Given the description of an element on the screen output the (x, y) to click on. 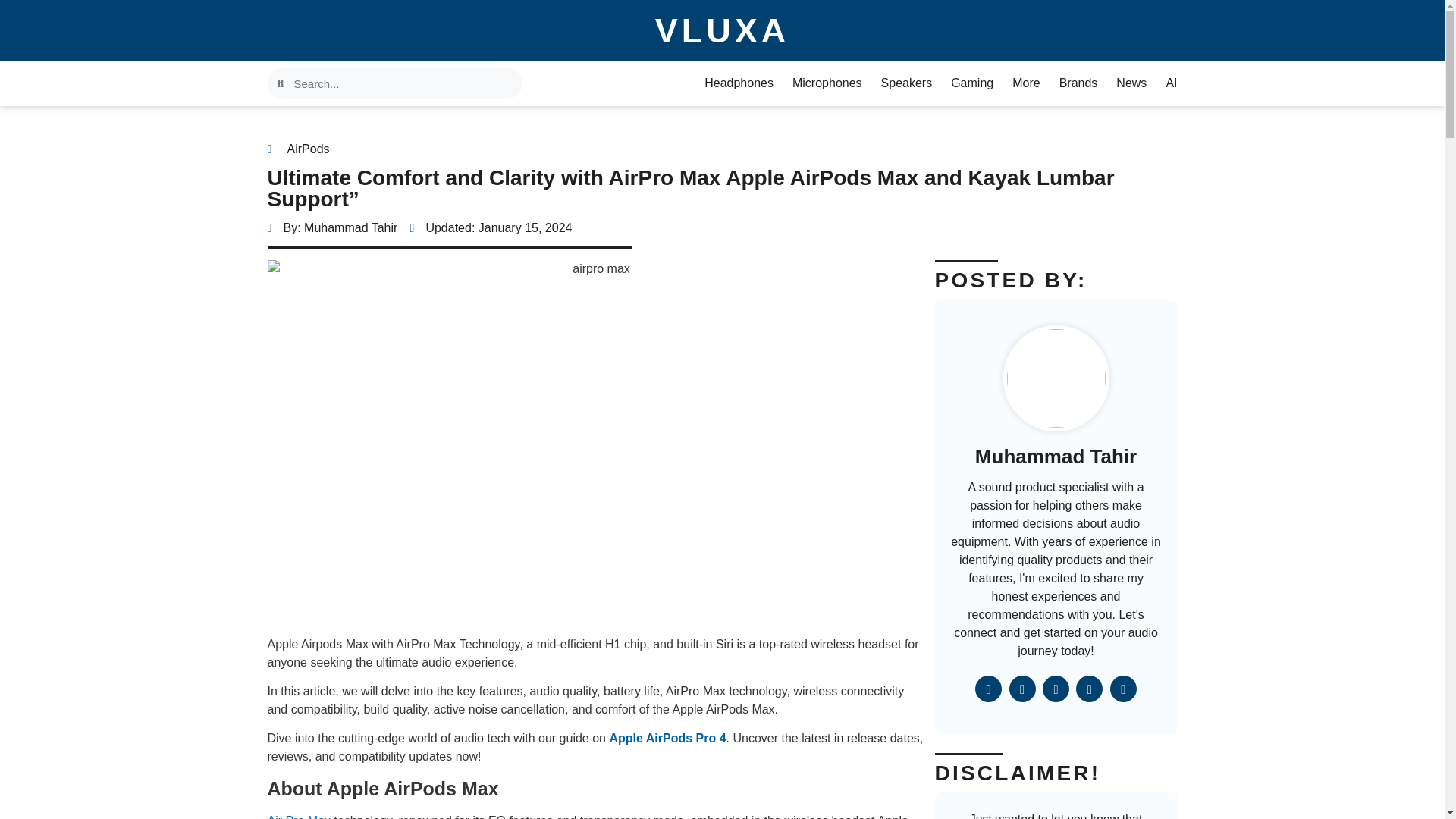
News (1131, 83)
Headphones (738, 83)
Microphones (826, 83)
VLUXA (722, 29)
Brands (1078, 83)
Speakers (906, 83)
More (1025, 83)
Gaming (971, 83)
